Given the description of an element on the screen output the (x, y) to click on. 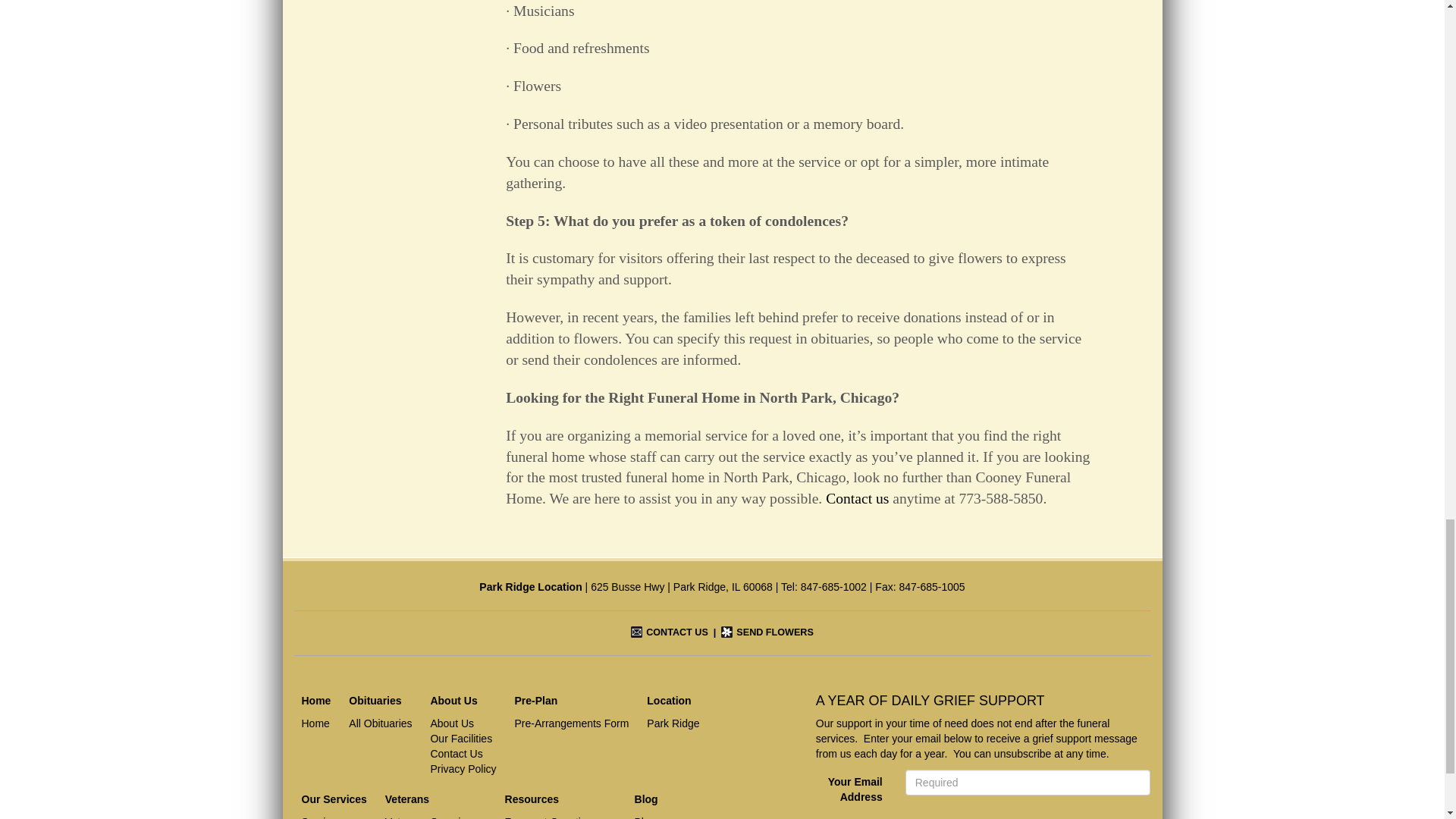
Send Flowers (766, 632)
Contact Us (668, 632)
